Given the description of an element on the screen output the (x, y) to click on. 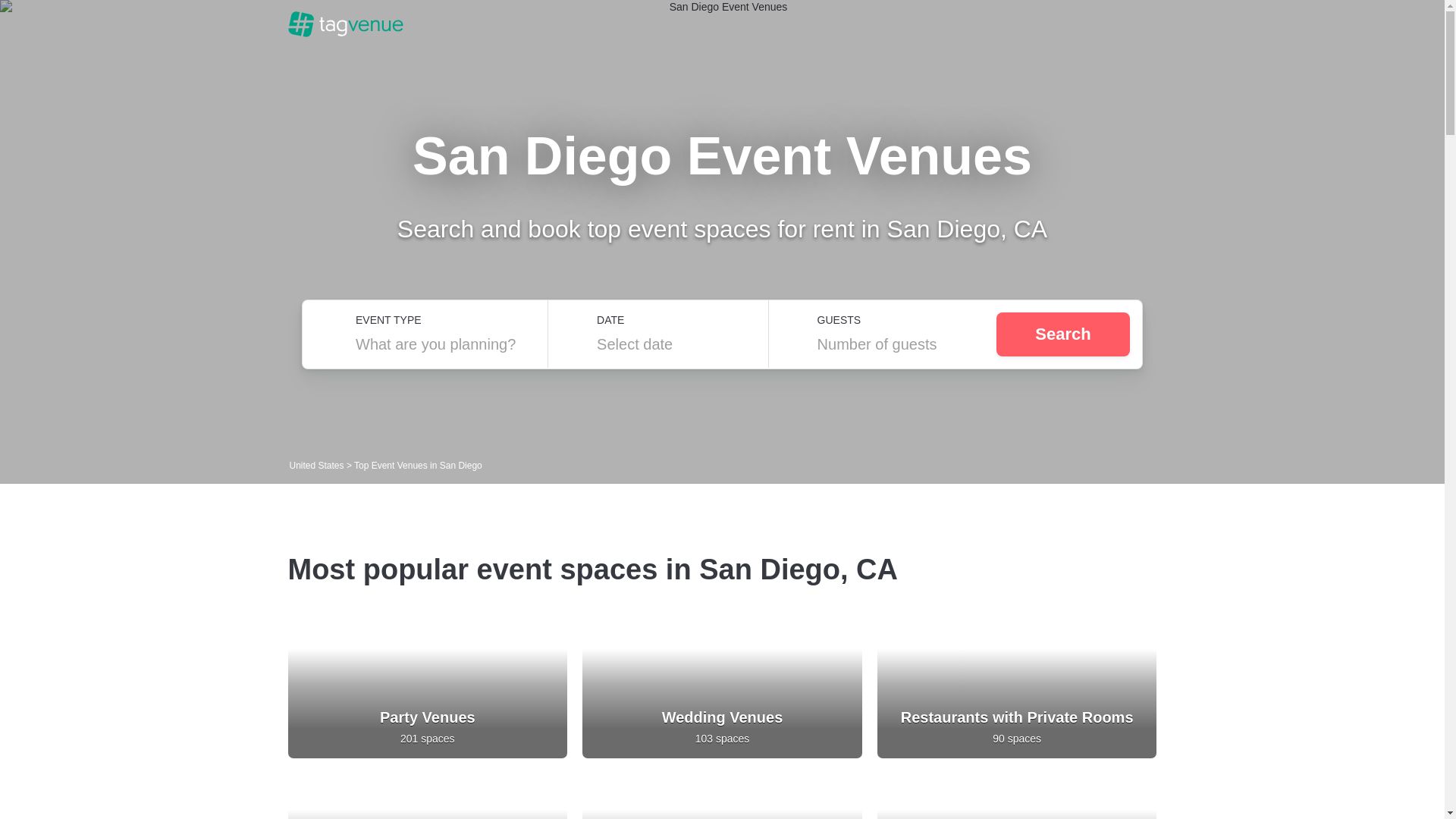
Party Venues (427, 717)
Restaurants with Private Rooms (1017, 717)
Wedding Venues (721, 717)
Search (1062, 334)
United States (317, 465)
